Given the description of an element on the screen output the (x, y) to click on. 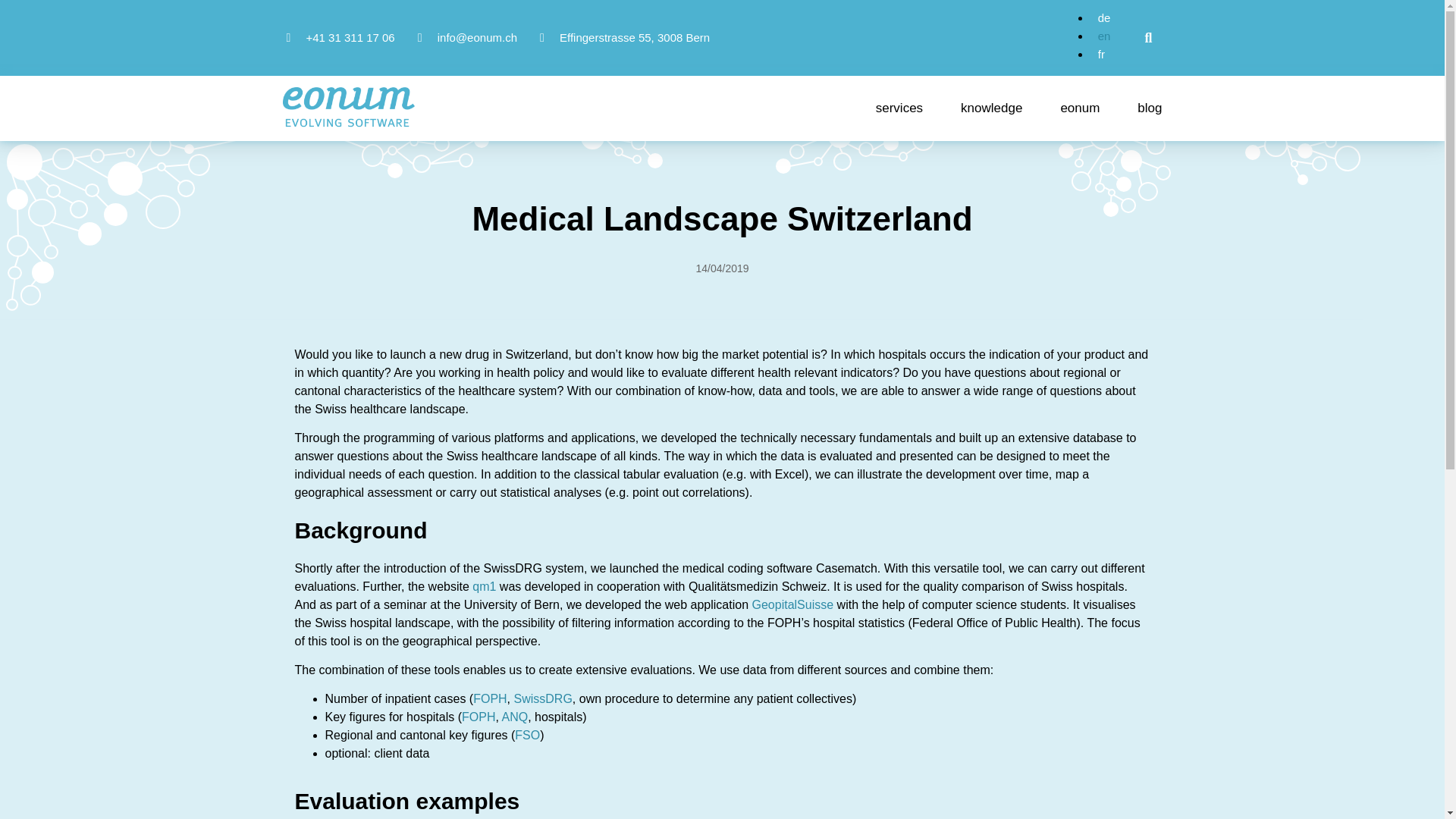
Effingerstrasse 55, 3008 Bern (625, 37)
knowledge (991, 108)
eonum (1079, 108)
GeopitalSuisse (793, 604)
SwissDRG (542, 698)
qm1 (483, 585)
fr (1097, 53)
de (1100, 17)
en (1100, 35)
services (899, 108)
FOPH (489, 698)
